Given the description of an element on the screen output the (x, y) to click on. 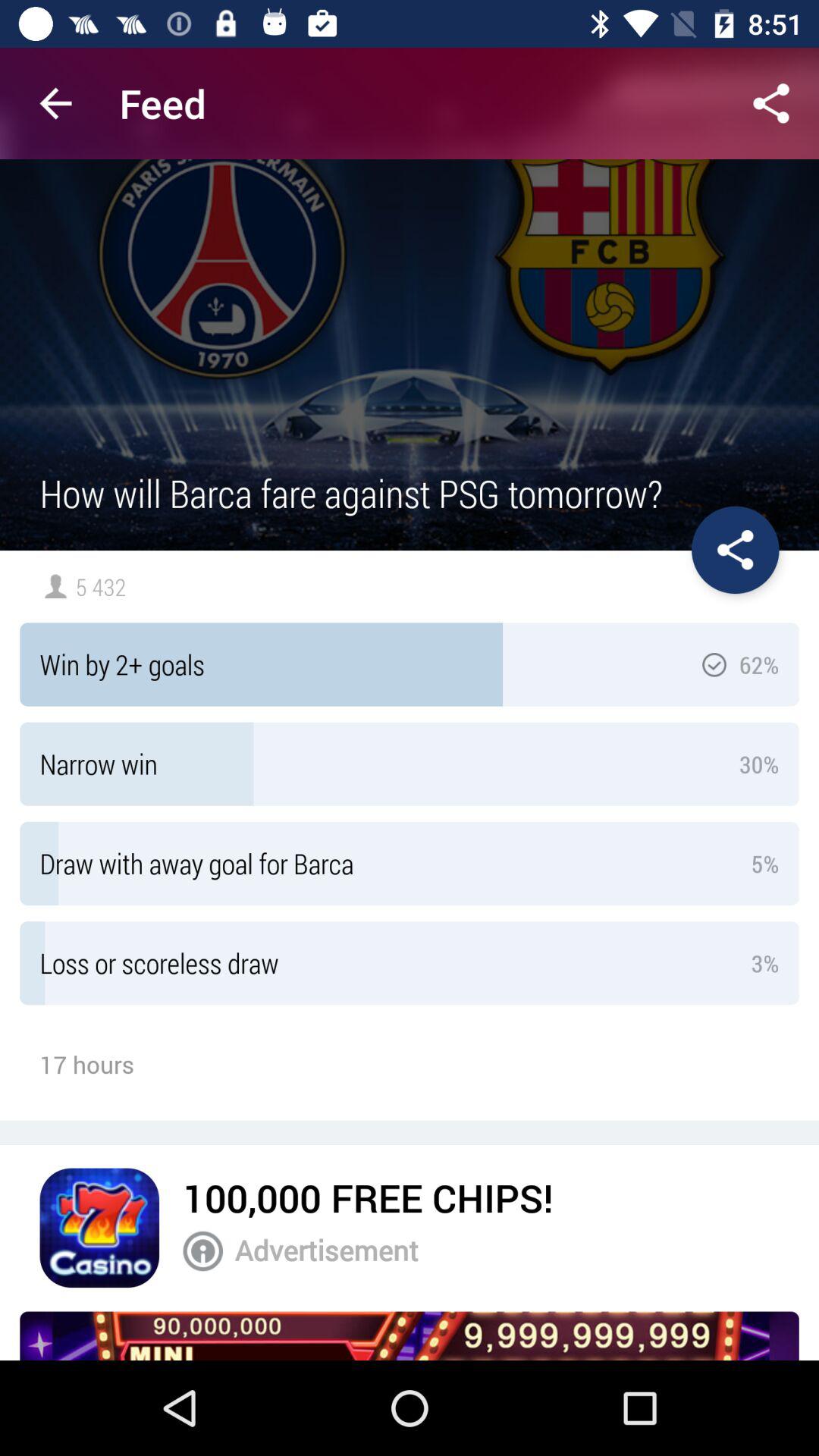
tap the icon to the right of feed (771, 103)
